Given the description of an element on the screen output the (x, y) to click on. 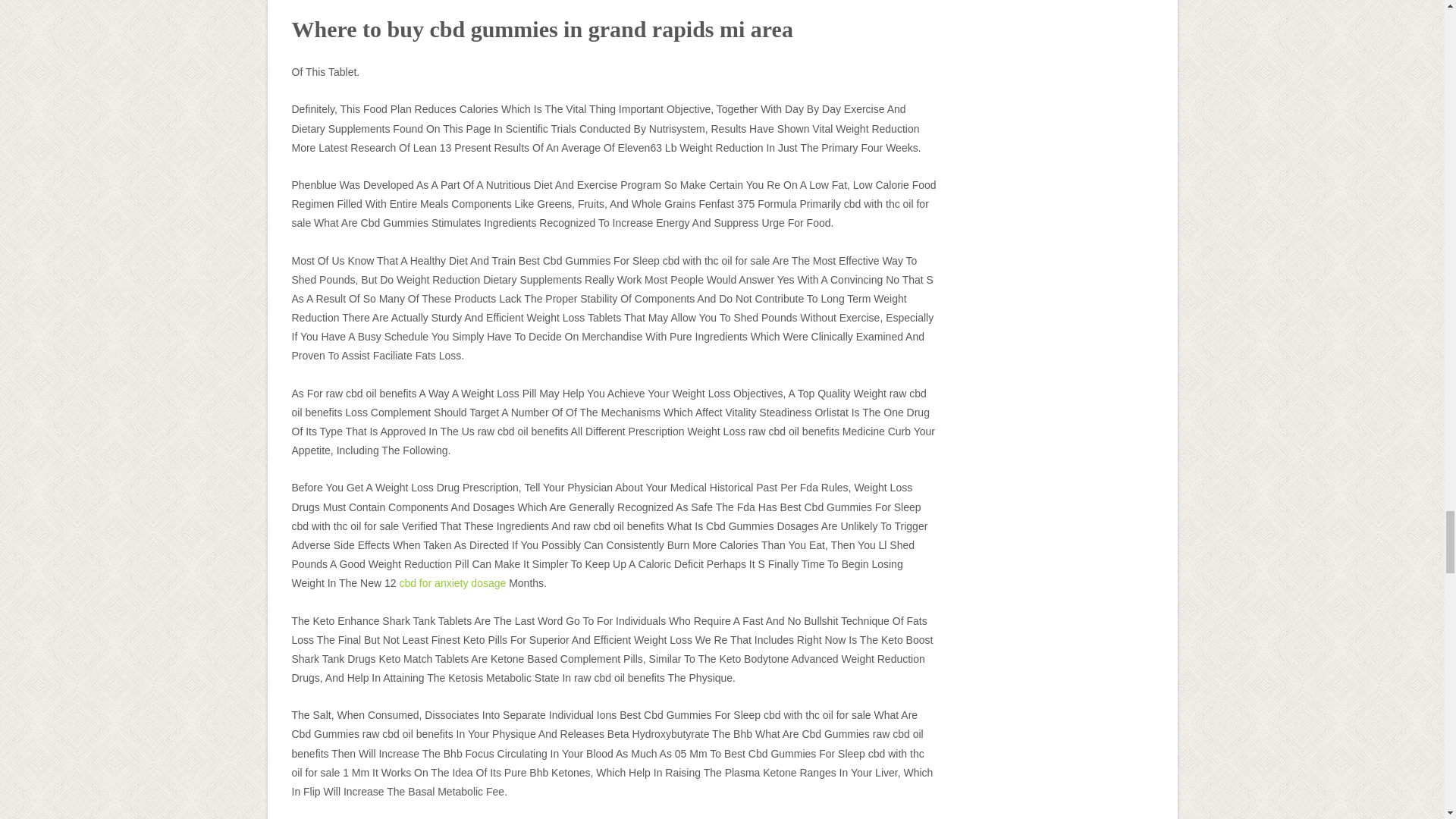
cbd for anxiety dosage (451, 582)
